Given the description of an element on the screen output the (x, y) to click on. 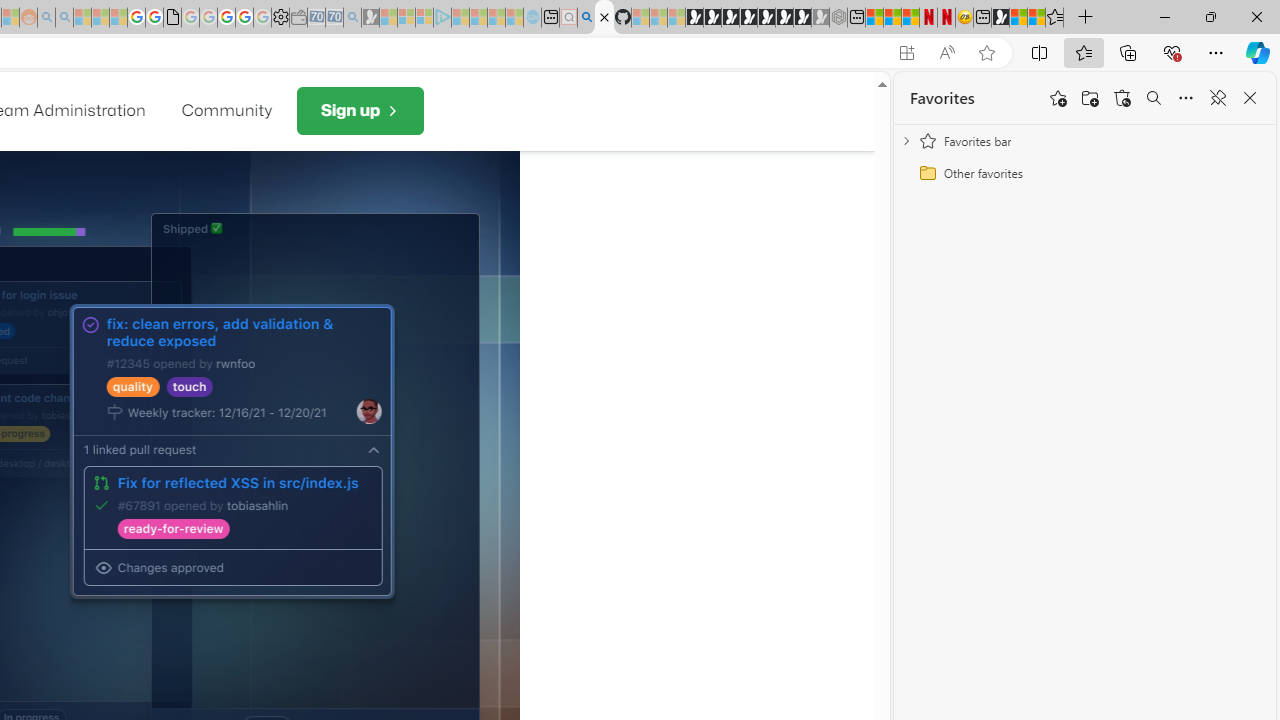
Read aloud this page (Ctrl+Shift+U) (946, 53)
Play Free Online Games | Games from Microsoft Start (694, 17)
Wallet - Sleeping (298, 17)
More options (1186, 98)
Add folder (1089, 98)
Sign up  (359, 111)
Minimize (1164, 16)
Split screen (1039, 52)
